Given the description of an element on the screen output the (x, y) to click on. 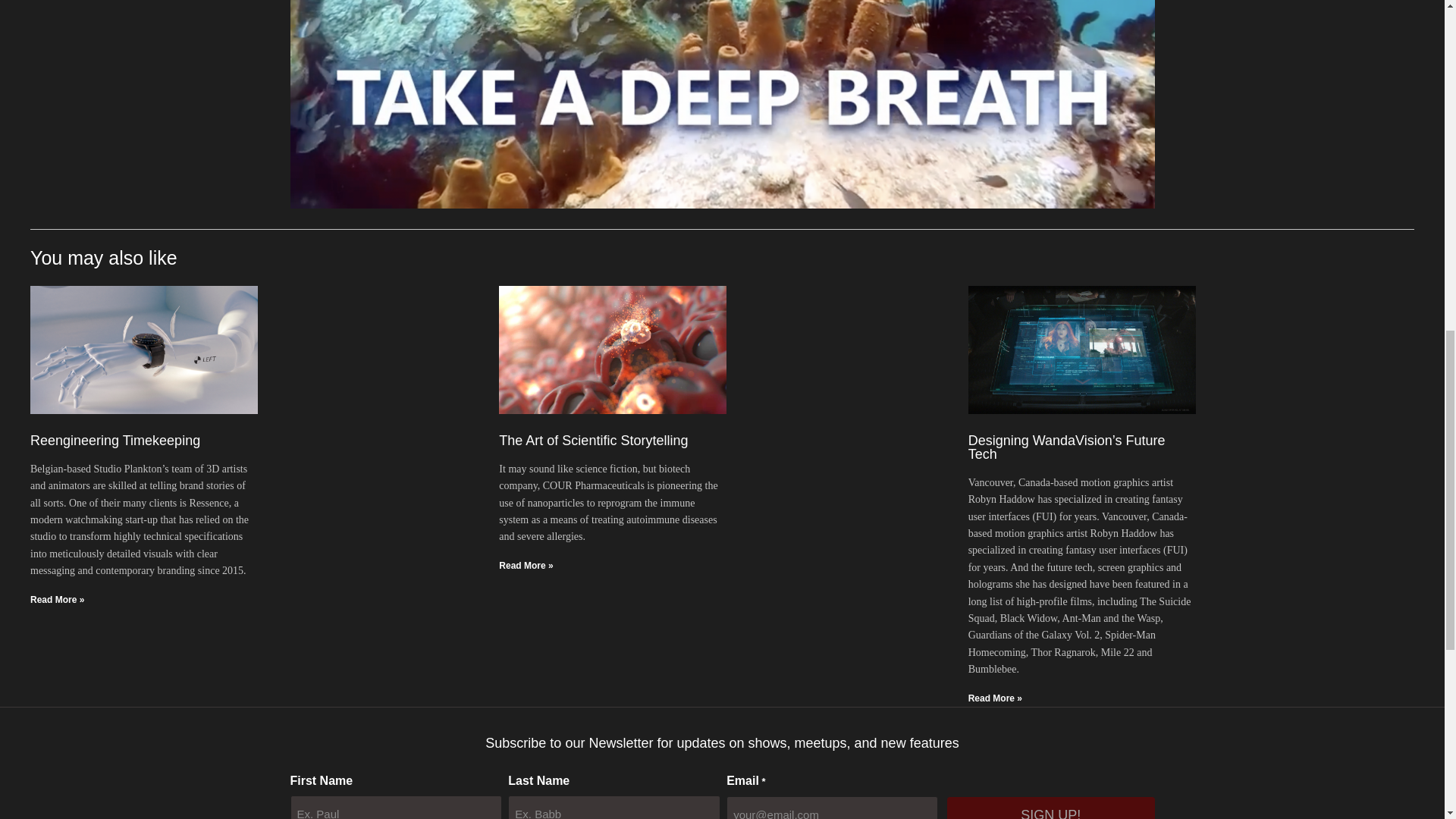
Sign Up! (1050, 807)
Reengineering Timekeeping (115, 440)
